Given the description of an element on the screen output the (x, y) to click on. 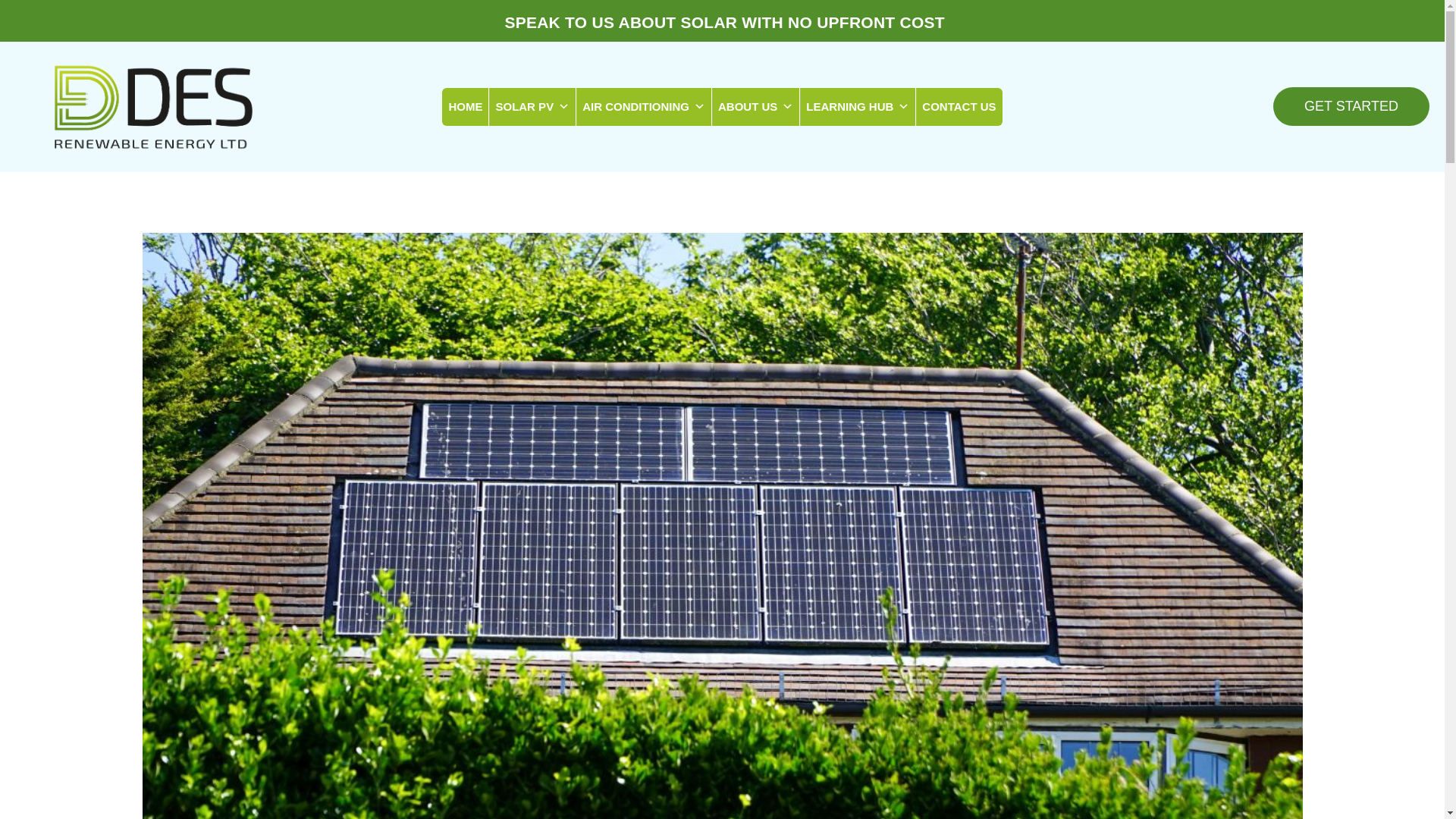
AIR CONDITIONING (643, 106)
HOME (464, 106)
ABOUT US (755, 106)
SOLAR PV (532, 106)
